Given the description of an element on the screen output the (x, y) to click on. 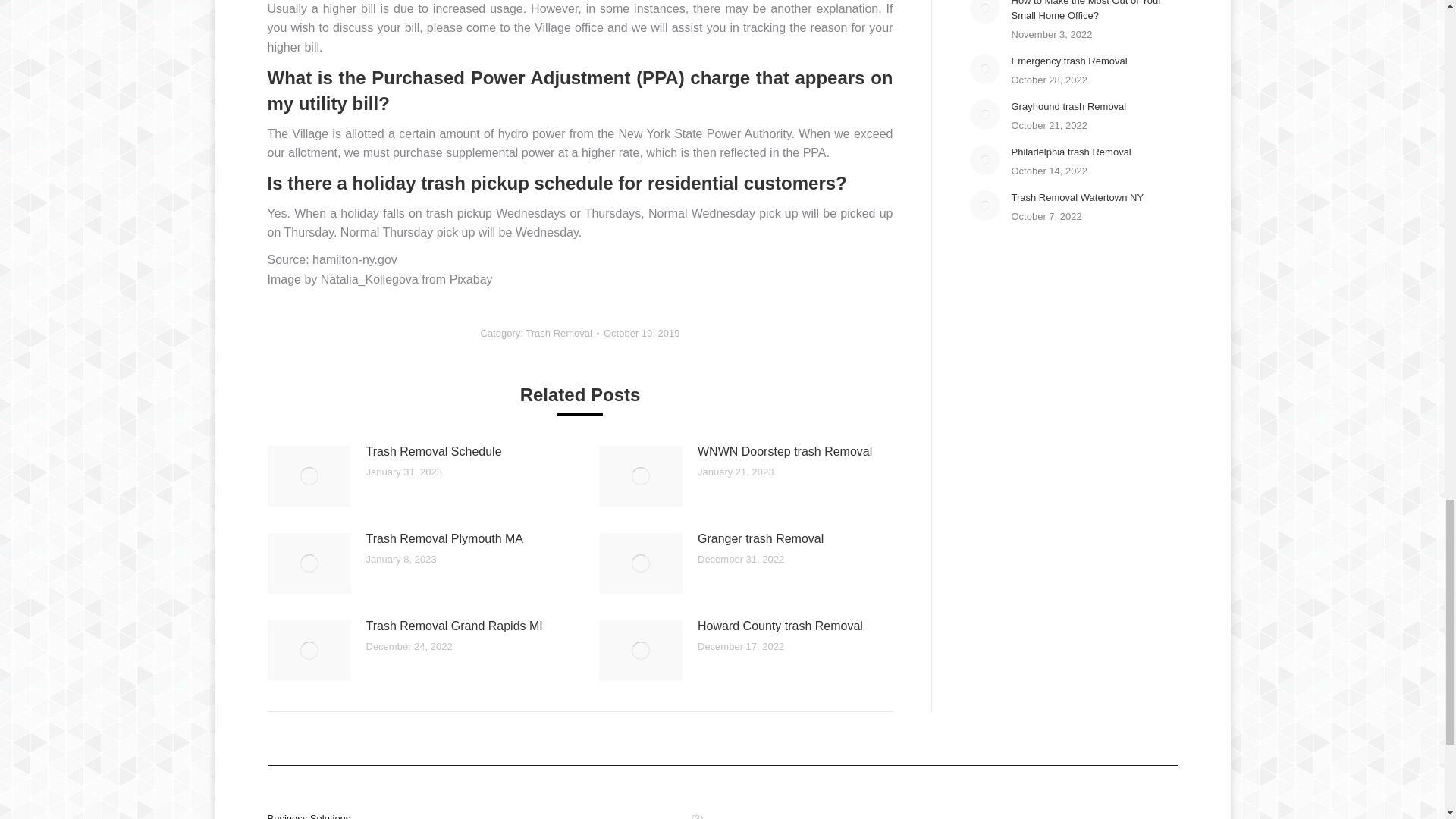
trash pickup schedule (516, 182)
Trash Removal Schedule (432, 451)
3:42 pm (641, 333)
Trash Removal (558, 333)
Trash Removal Plymouth MA (443, 538)
October 19, 2019 (641, 333)
Sarasota trash pickup schedule (516, 182)
Trash Removal Grand Rapids MI (453, 626)
Granger trash Removal (760, 538)
Howard County trash Removal (780, 626)
